Given the description of an element on the screen output the (x, y) to click on. 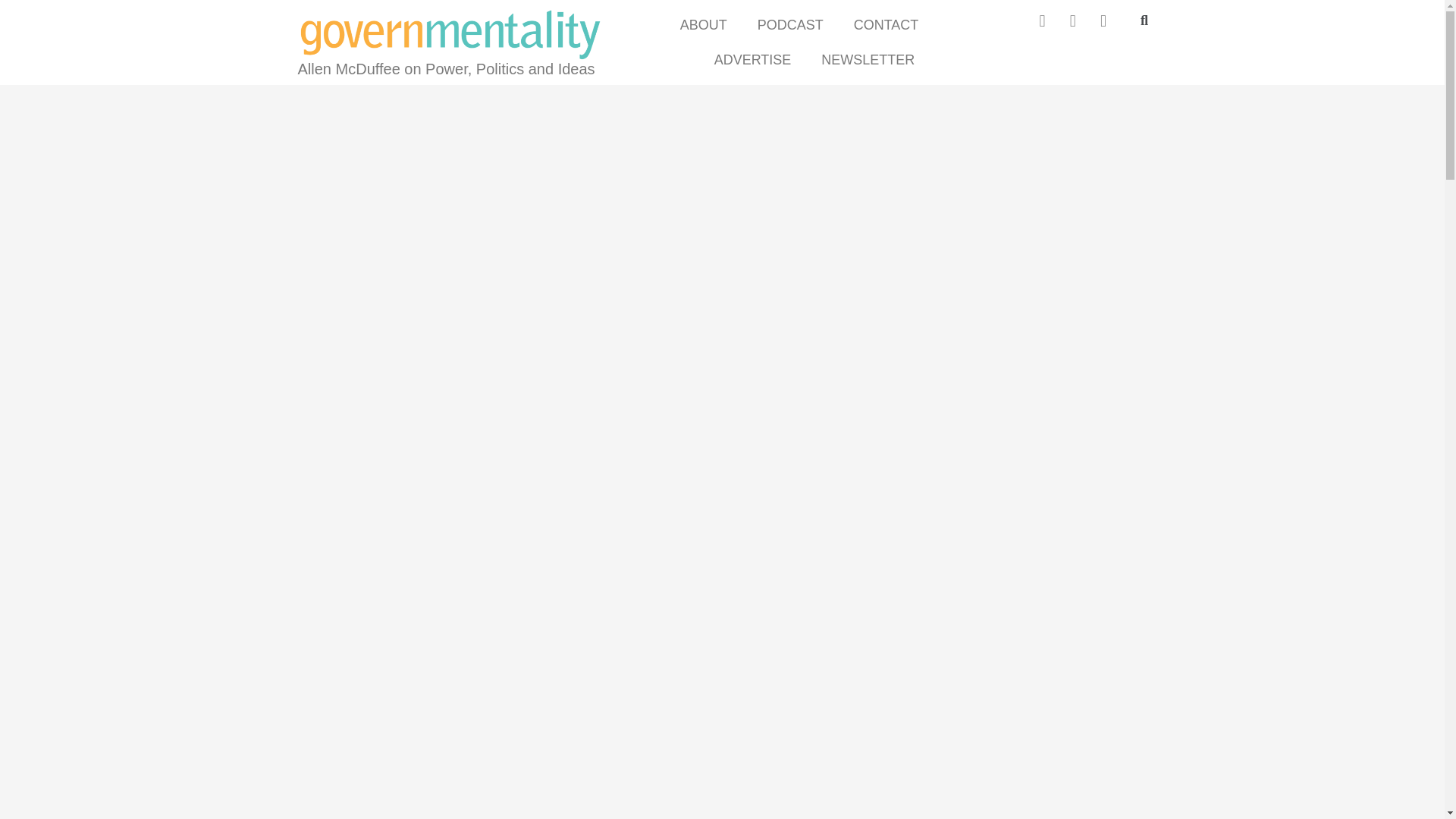
ABOUT (702, 24)
NEWSLETTER (867, 59)
ADVERTISE (753, 59)
PODCAST (790, 24)
CONTACT (885, 24)
